Given the description of an element on the screen output the (x, y) to click on. 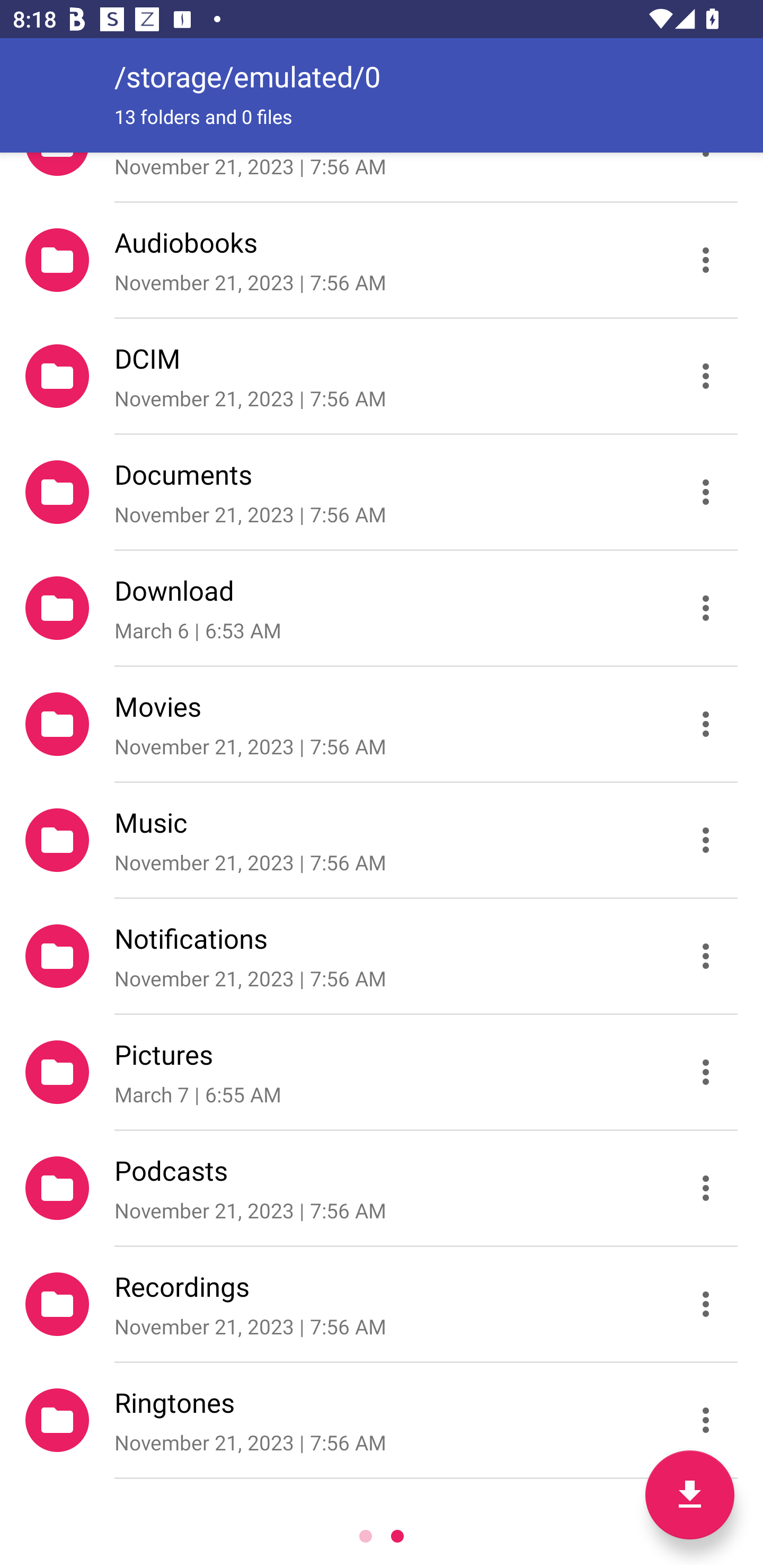
Audiobooks November 21, 2023 | 7:56 AM (381, 259)
DCIM November 21, 2023 | 7:56 AM (381, 375)
Documents November 21, 2023 | 7:56 AM (381, 491)
Download March 6 | 6:53 AM (381, 607)
Movies November 21, 2023 | 7:56 AM (381, 723)
Music November 21, 2023 | 7:56 AM (381, 839)
Notifications November 21, 2023 | 7:56 AM (381, 955)
Pictures March 7 | 6:55 AM (381, 1071)
Podcasts November 21, 2023 | 7:56 AM (381, 1187)
Recordings November 21, 2023 | 7:56 AM (381, 1303)
Ringtones November 21, 2023 | 7:56 AM (381, 1419)
